Given the description of an element on the screen output the (x, y) to click on. 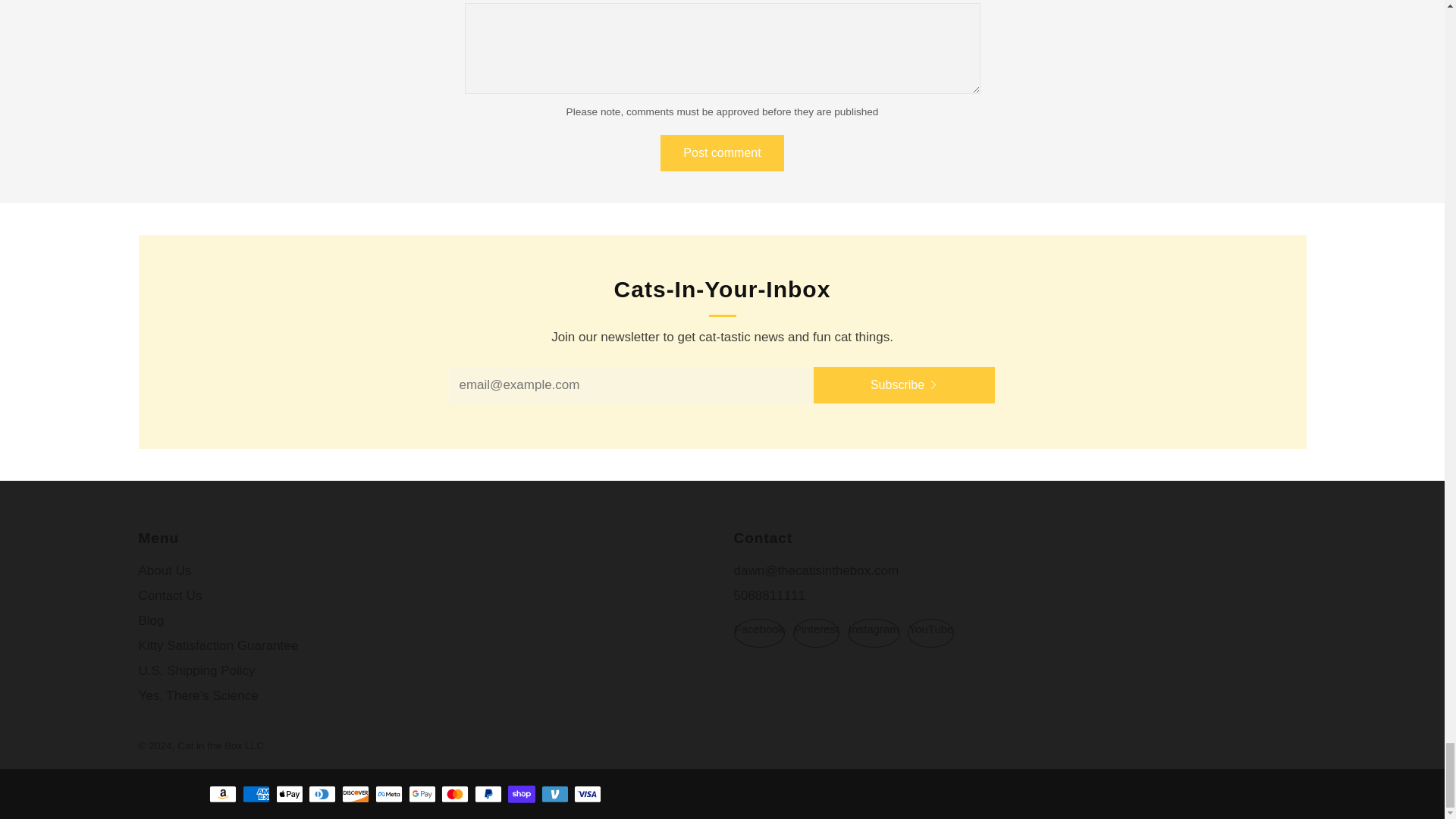
PayPal (488, 794)
Amazon (222, 794)
Meta Pay (389, 794)
Mastercard (454, 794)
Post comment (722, 153)
Venmo (555, 794)
Diners Club (322, 794)
American Express (256, 794)
Apple Pay (289, 794)
Google Pay (422, 794)
Shop Pay (521, 794)
Visa (587, 794)
Discover (355, 794)
